Given the description of an element on the screen output the (x, y) to click on. 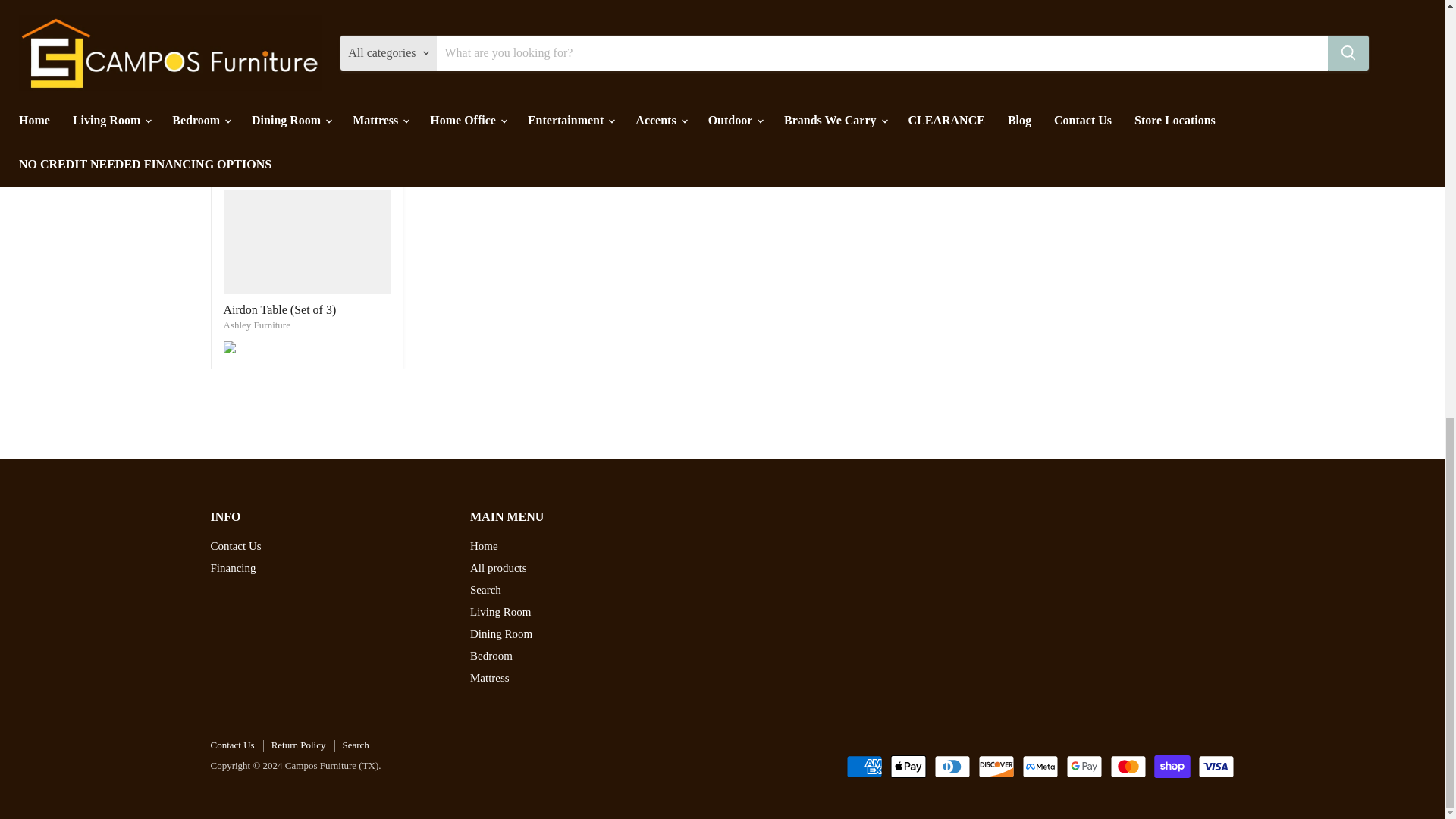
Ashley Furniture (255, 324)
American Express (863, 766)
Diners Club (952, 766)
Apple Pay (907, 766)
